Given the description of an element on the screen output the (x, y) to click on. 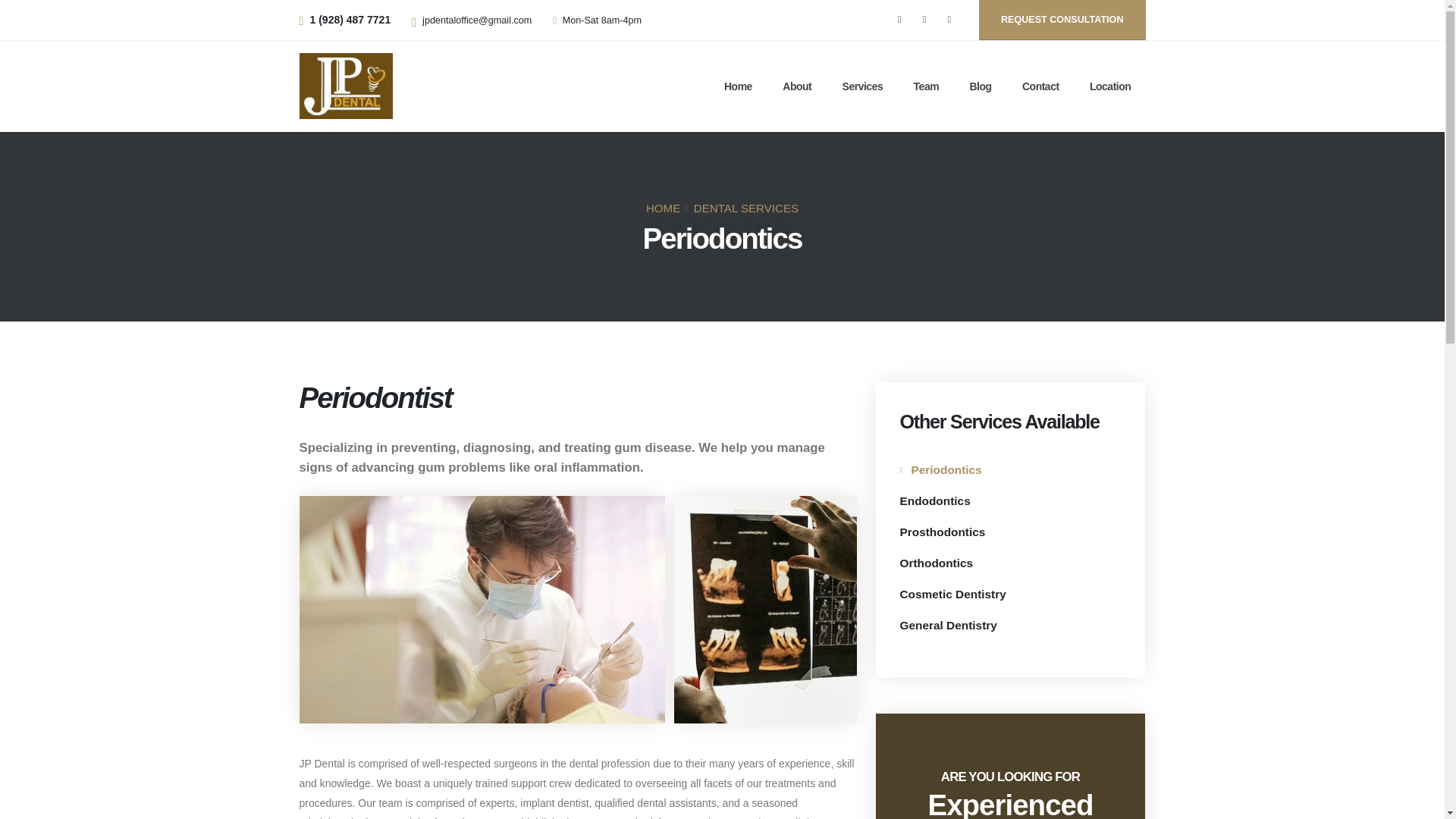
REQUEST CONSULTATION (1061, 20)
Cosmetic Dentistry (952, 594)
DENTAL SERVICES (745, 207)
Facebook (899, 19)
Instagram (949, 19)
HOME (662, 207)
Periodontics (940, 469)
Endodontics (934, 500)
Prosthodontics (942, 531)
General Dentistry (947, 625)
